Given the description of an element on the screen output the (x, y) to click on. 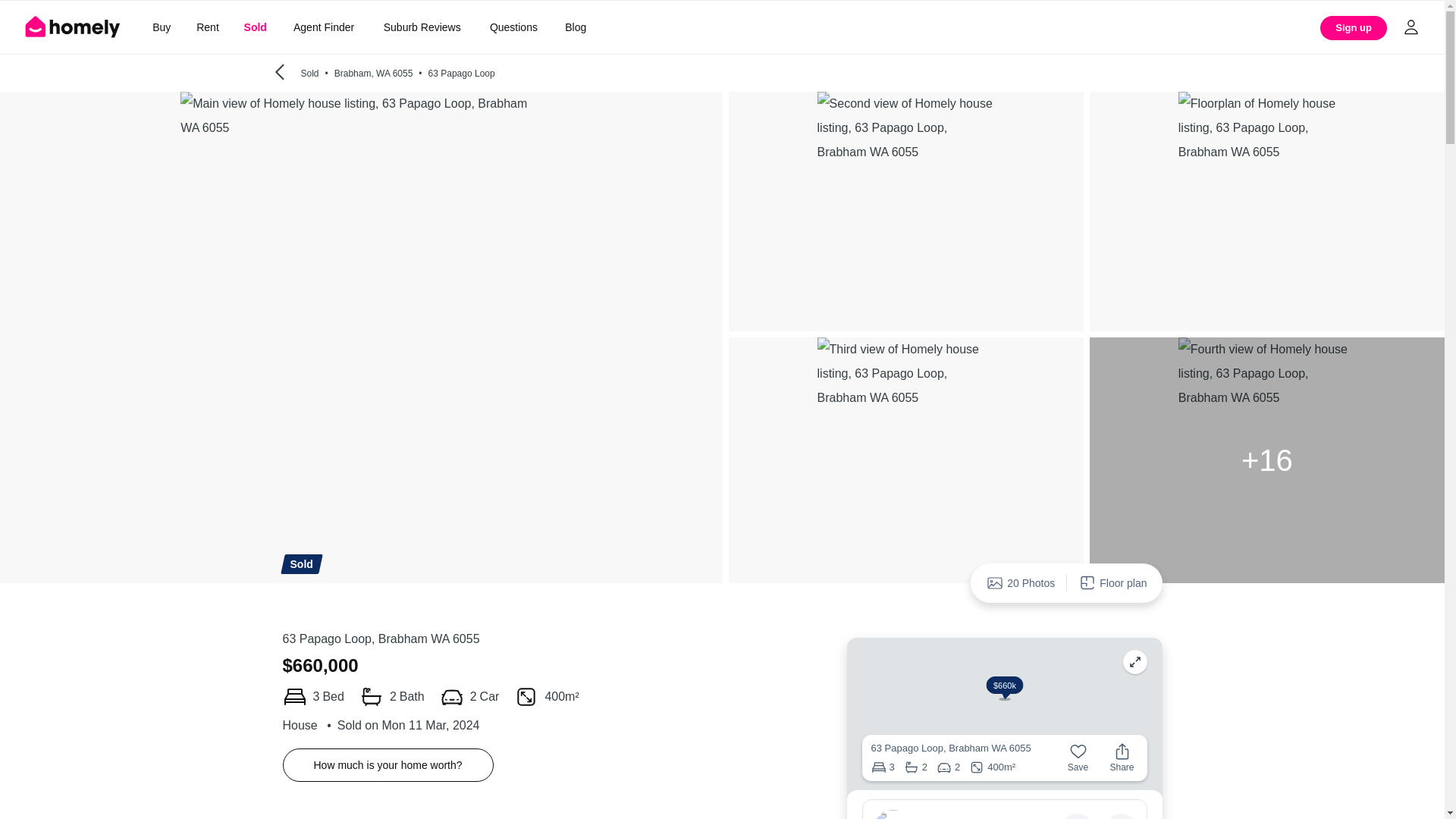
Sold (255, 27)
Agent Finder (323, 27)
Rent (207, 27)
Blog (575, 27)
Suburb Reviews (422, 27)
How much is your home worth? (387, 765)
20 Photos (1020, 583)
Buy (161, 27)
Rent (207, 27)
Homely (72, 27)
